Given the description of an element on the screen output the (x, y) to click on. 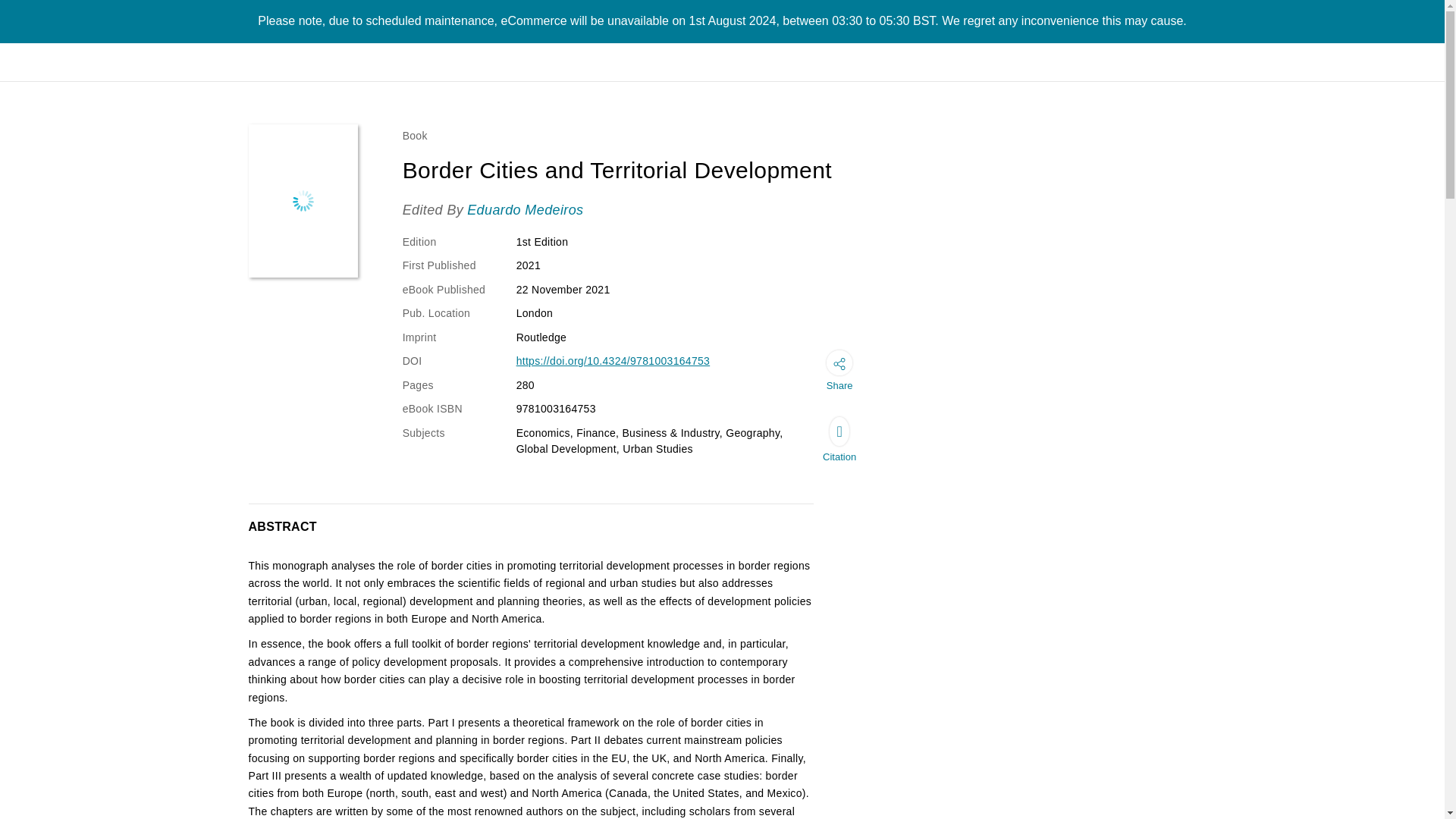
Eduardo Medeiros (525, 209)
